Given the description of an element on the screen output the (x, y) to click on. 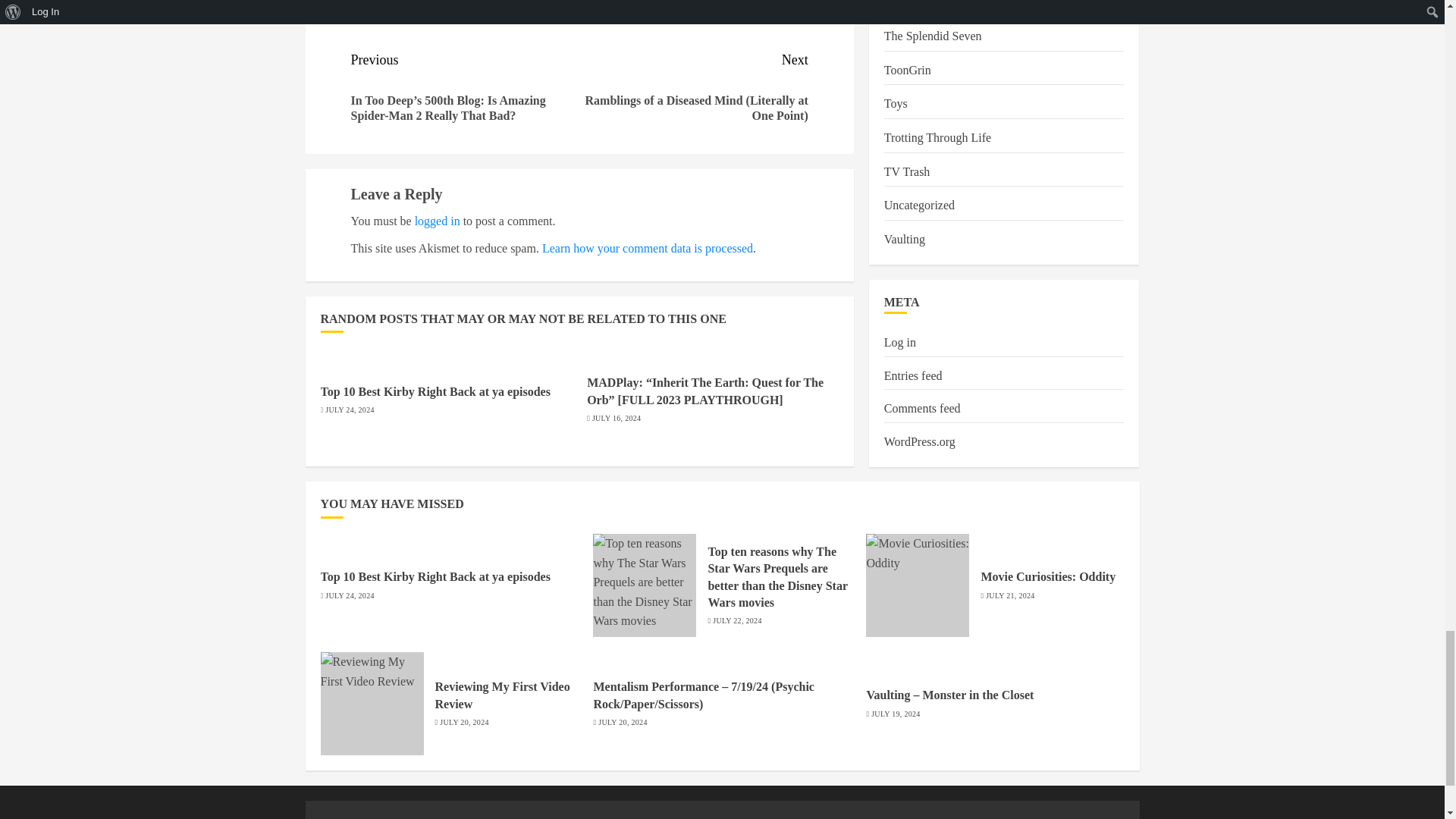
Movie Curiosities: Oddity (917, 585)
Reviewing My First Video Review (371, 703)
